Given the description of an element on the screen output the (x, y) to click on. 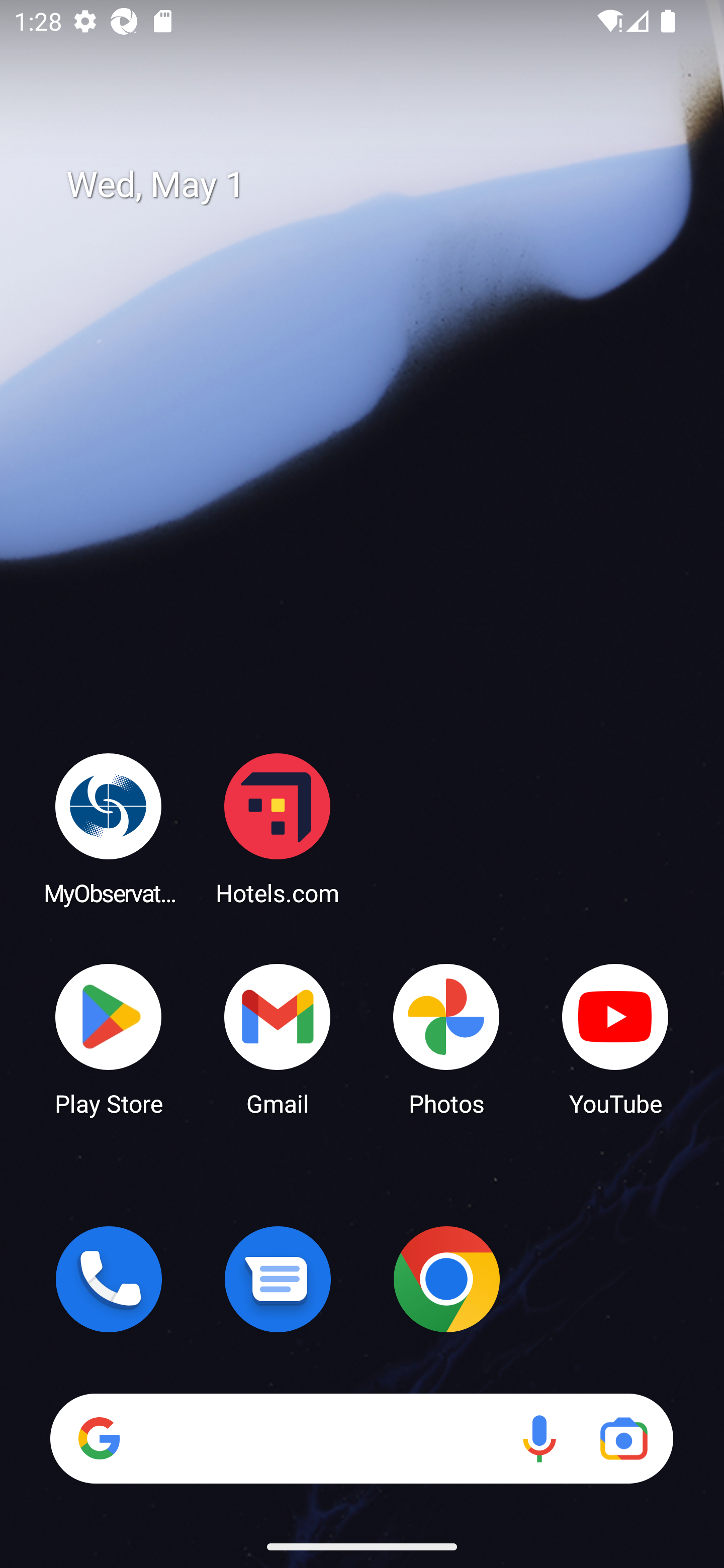
Wed, May 1 (375, 184)
MyObservatory (108, 828)
Hotels.com (277, 828)
Play Store (108, 1038)
Gmail (277, 1038)
Photos (445, 1038)
YouTube (615, 1038)
Phone (108, 1279)
Messages (277, 1279)
Chrome (446, 1279)
Search Voice search Google Lens (361, 1438)
Voice search (539, 1438)
Google Lens (623, 1438)
